Given the description of an element on the screen output the (x, y) to click on. 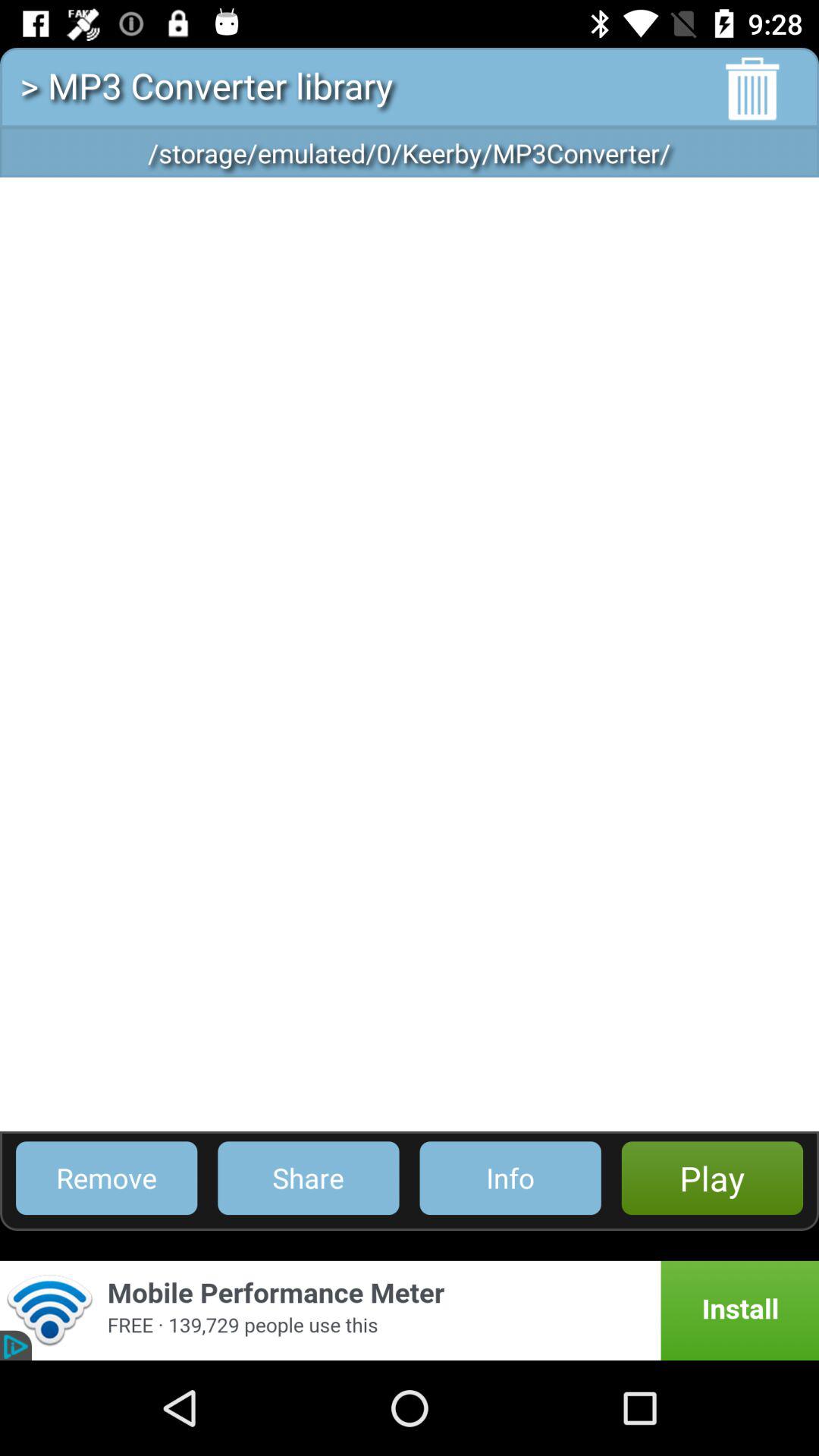
press item next to info app (308, 1177)
